Given the description of an element on the screen output the (x, y) to click on. 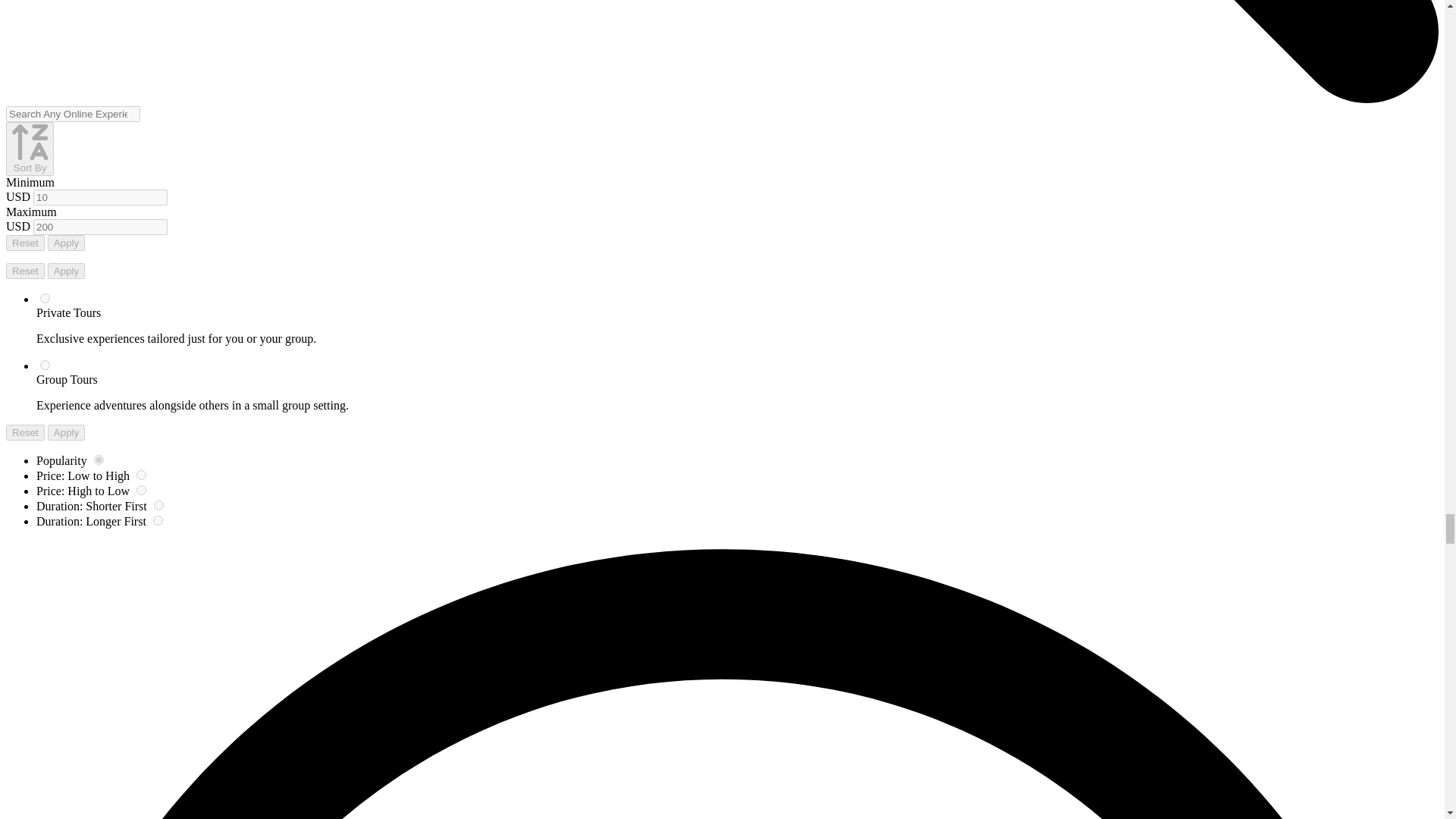
0 (44, 365)
Reset (25, 432)
Apply (66, 432)
Reset (25, 270)
Apply (66, 242)
Reset (25, 242)
Apply (66, 270)
1 (44, 298)
